Given the description of an element on the screen output the (x, y) to click on. 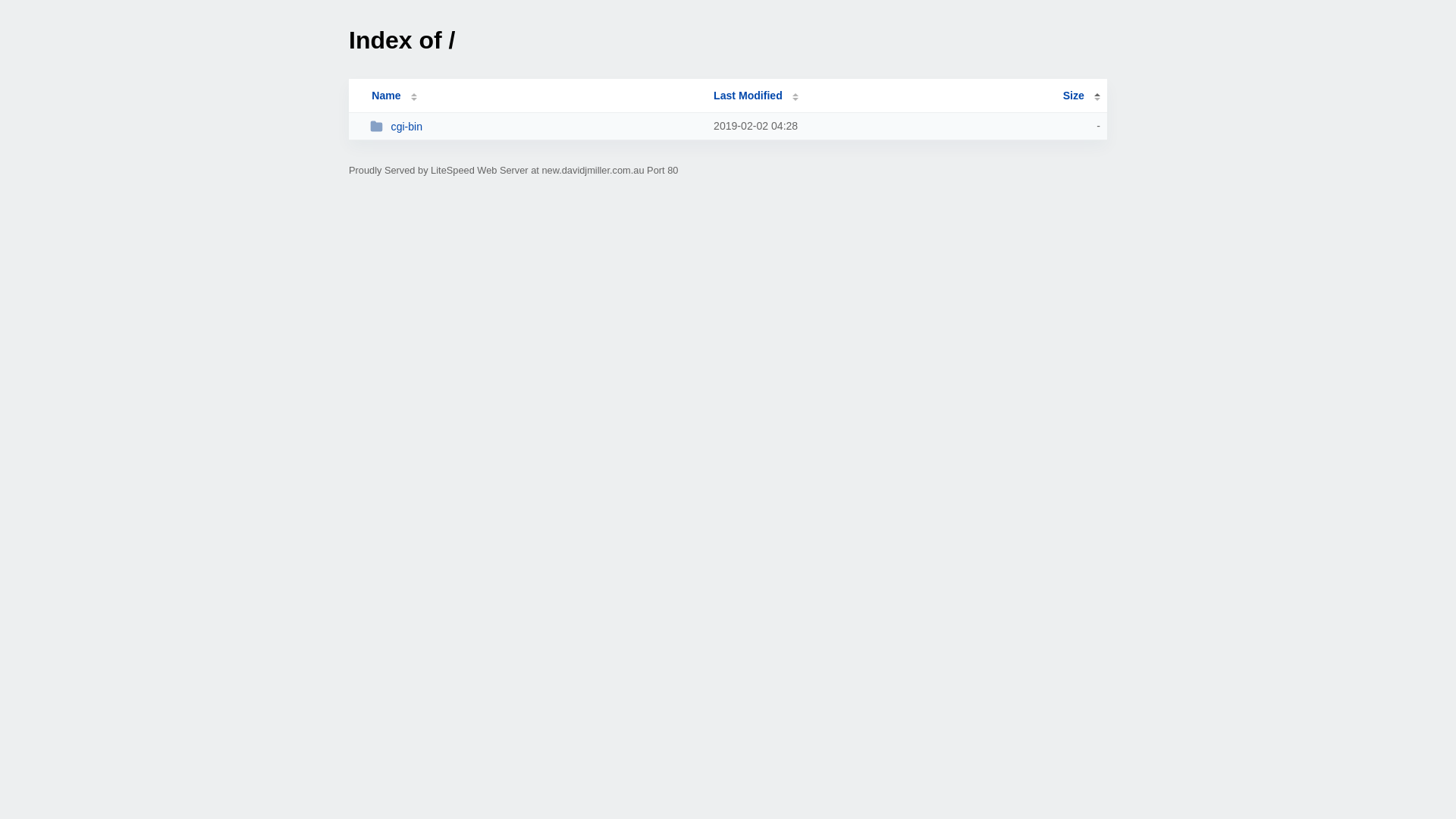
Last Modified Element type: text (755, 95)
cgi-bin Element type: text (534, 125)
Size Element type: text (1081, 95)
Name Element type: text (385, 95)
